Given the description of an element on the screen output the (x, y) to click on. 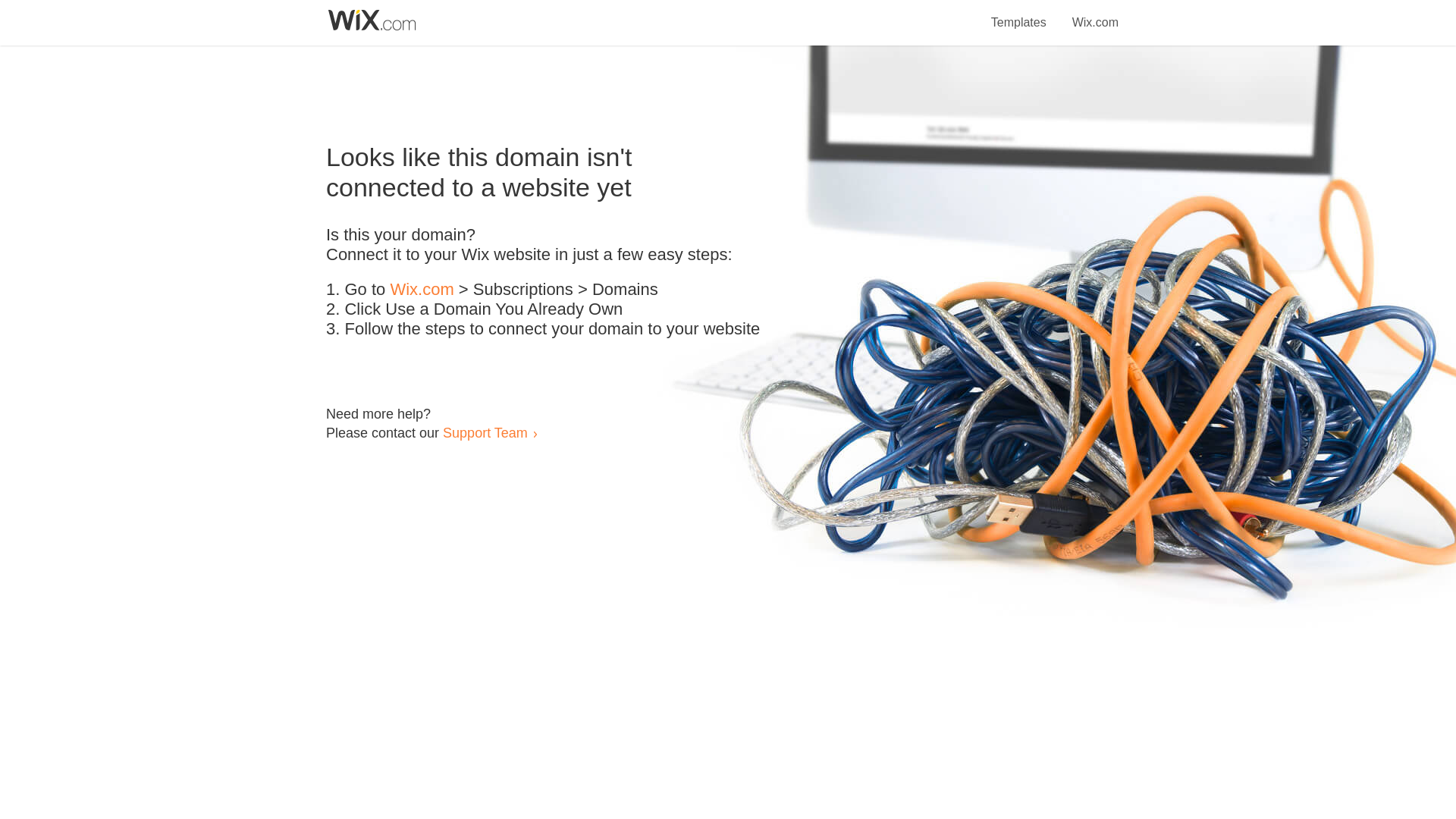
Support Team (484, 432)
Wix.com (421, 289)
Templates (1018, 14)
Wix.com (1095, 14)
